Given the description of an element on the screen output the (x, y) to click on. 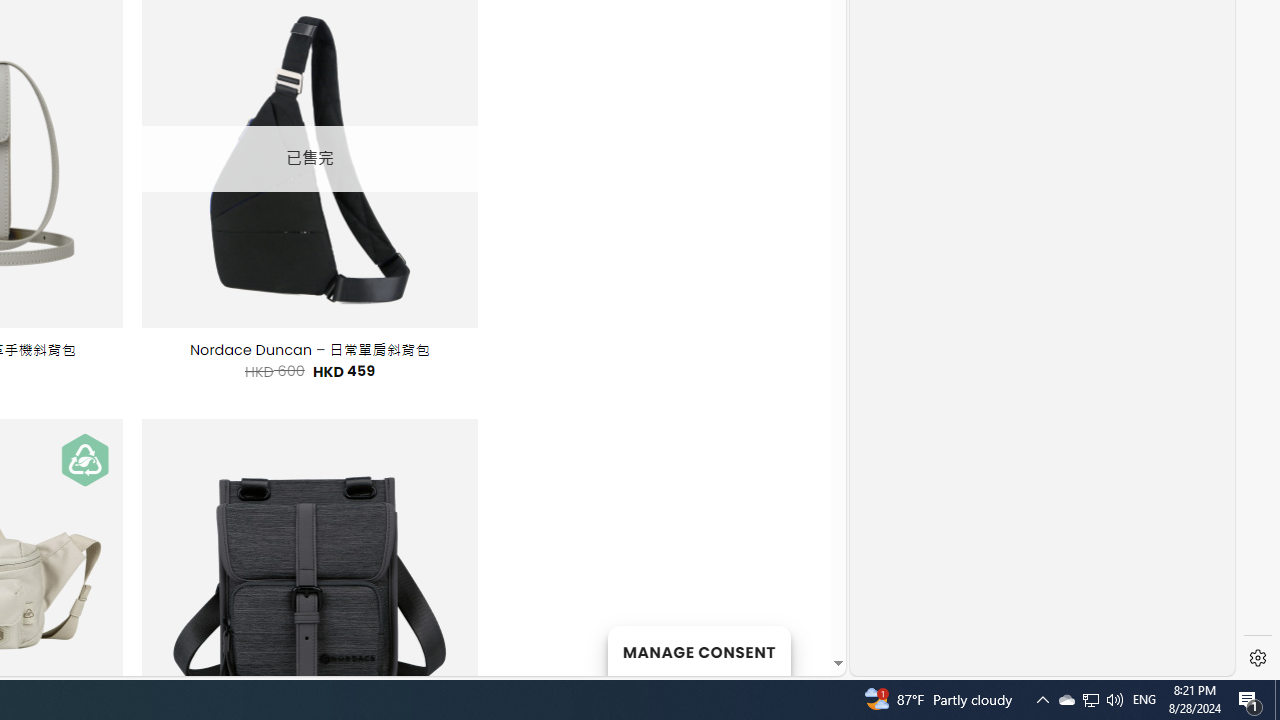
MANAGE CONSENT (698, 650)
